Given the description of an element on the screen output the (x, y) to click on. 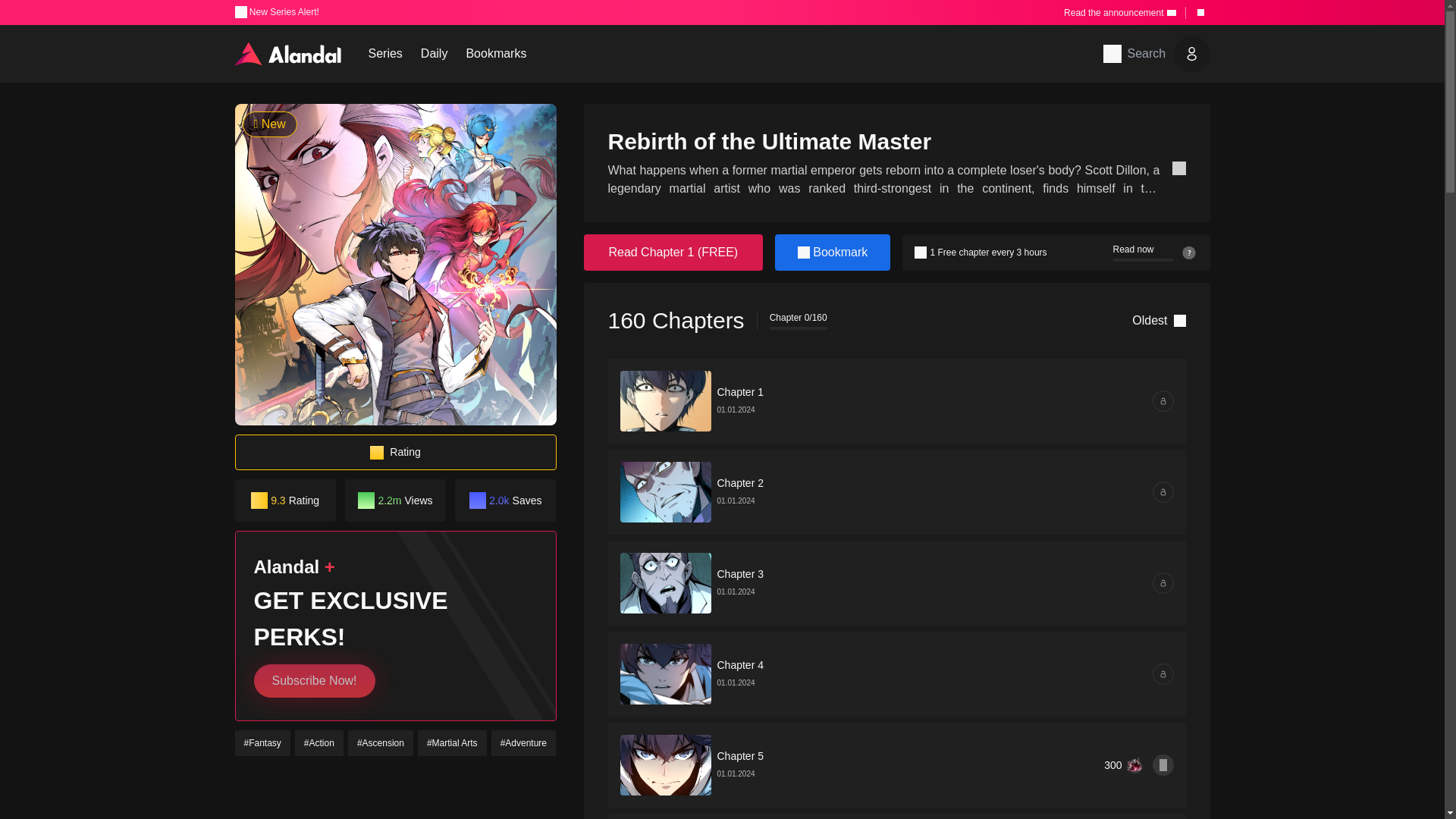
Rating (395, 452)
Subscribe Now! (1119, 11)
Bookmarks (313, 680)
New Series Alert! (496, 53)
Series (276, 11)
